Given the description of an element on the screen output the (x, y) to click on. 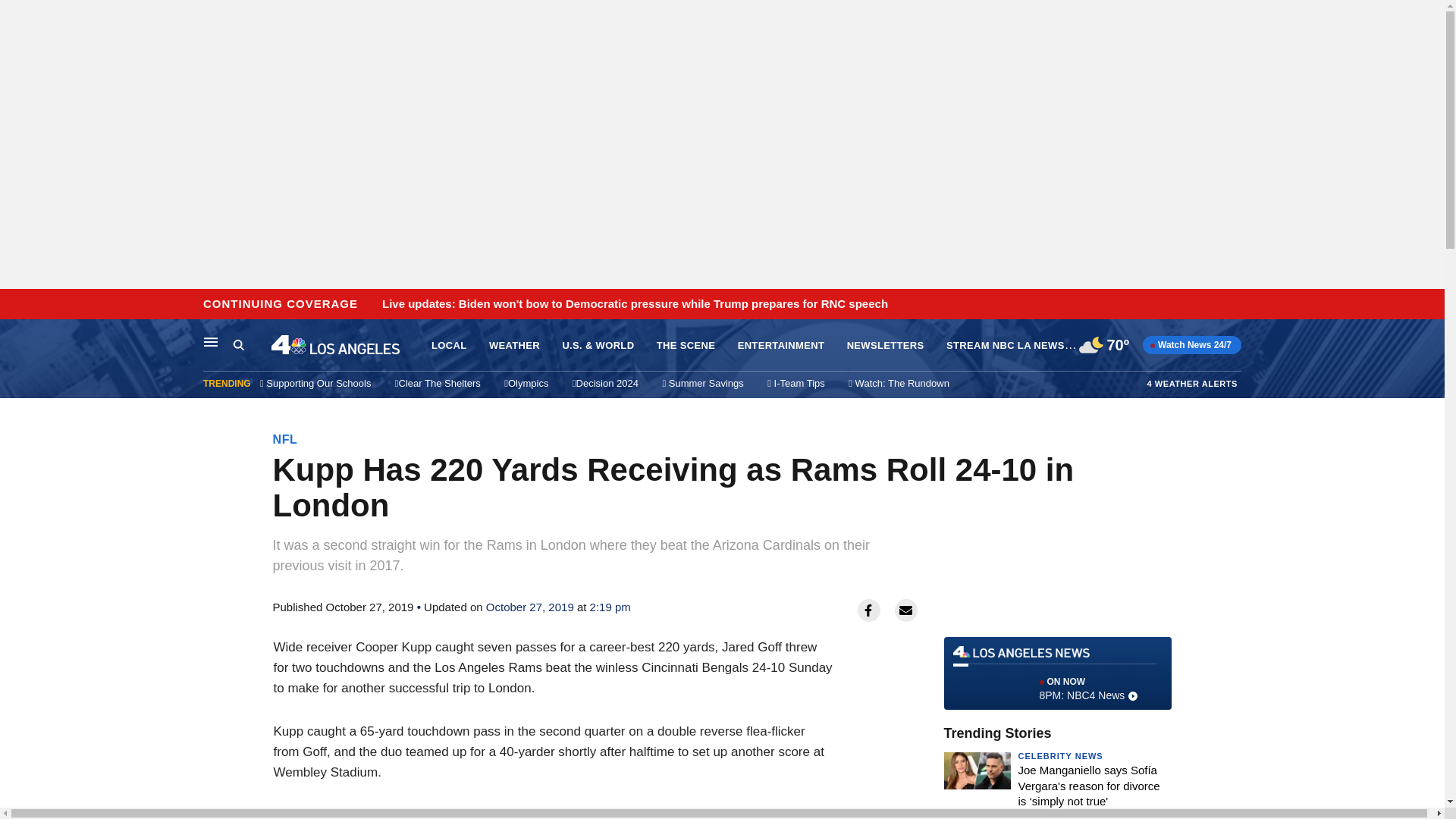
ENTERTAINMENT (781, 345)
4 WEATHER ALERTS (1192, 383)
NEWSLETTERS (885, 345)
Main Navigation (210, 341)
LOCAL (447, 345)
THE SCENE (685, 345)
Skip to content (1056, 673)
Search (16, 304)
Search (238, 344)
NFL (252, 345)
WEATHER (285, 439)
